Given the description of an element on the screen output the (x, y) to click on. 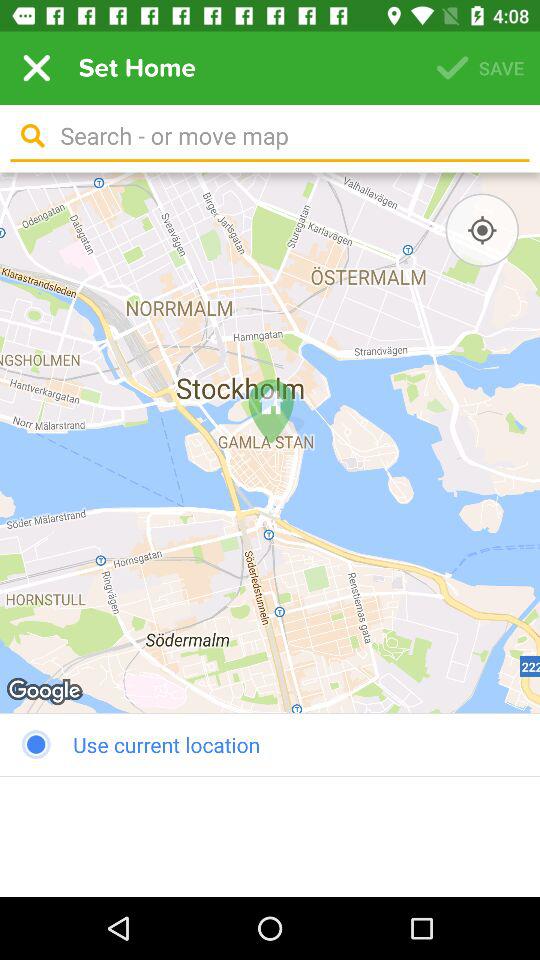
click use current location item (270, 744)
